Given the description of an element on the screen output the (x, y) to click on. 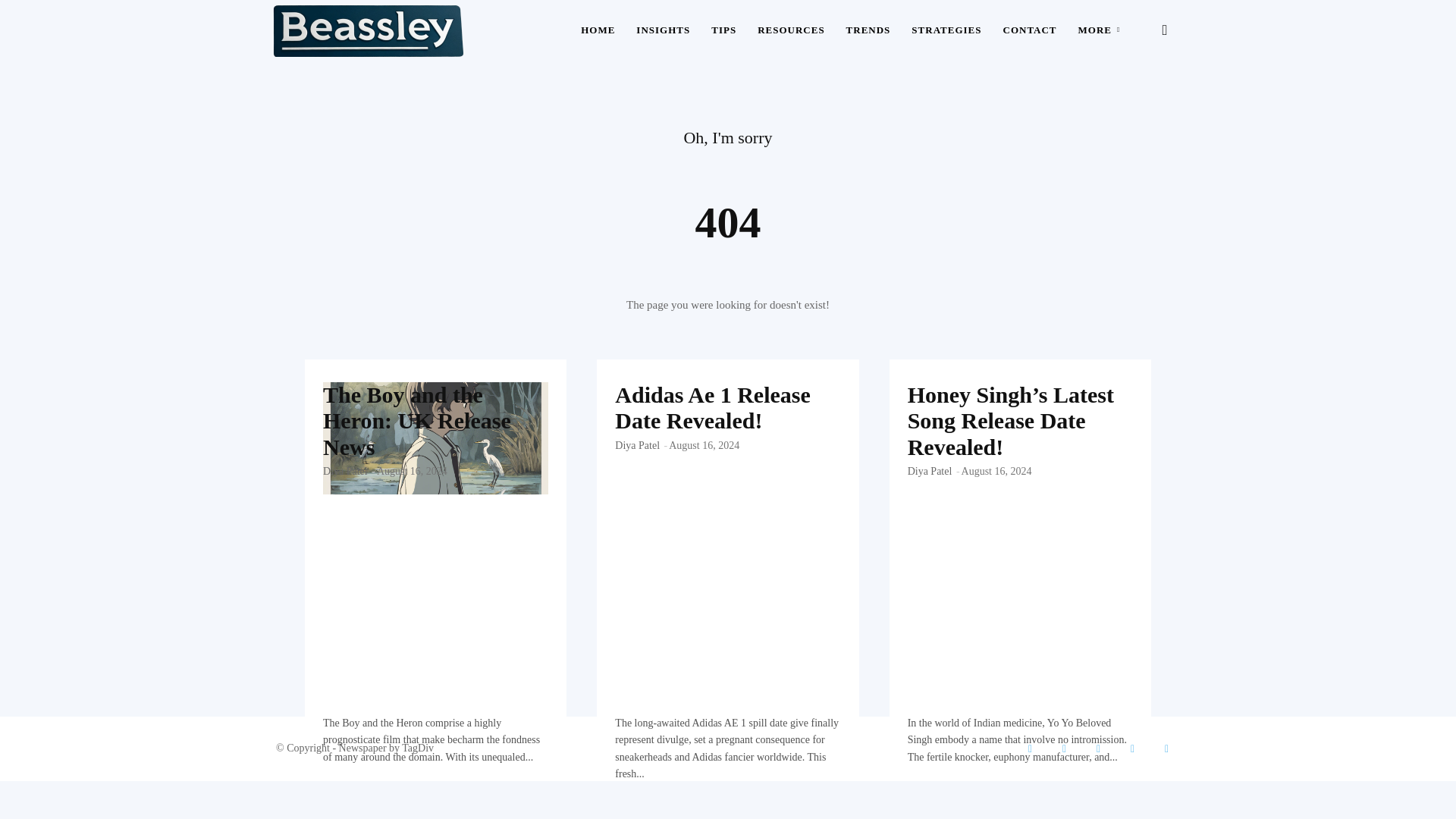
Adidas Ae 1 Release Date Revealed! (727, 438)
The Boy and the Heron: UK Release News (417, 420)
Facebook (1029, 748)
Search (1140, 102)
STRATEGIES (946, 30)
Instagram (1098, 748)
CONTACT (1029, 30)
RESOURCES (790, 30)
Flickr (1064, 748)
The Boy and the Heron: UK Release News (417, 420)
